Given the description of an element on the screen output the (x, y) to click on. 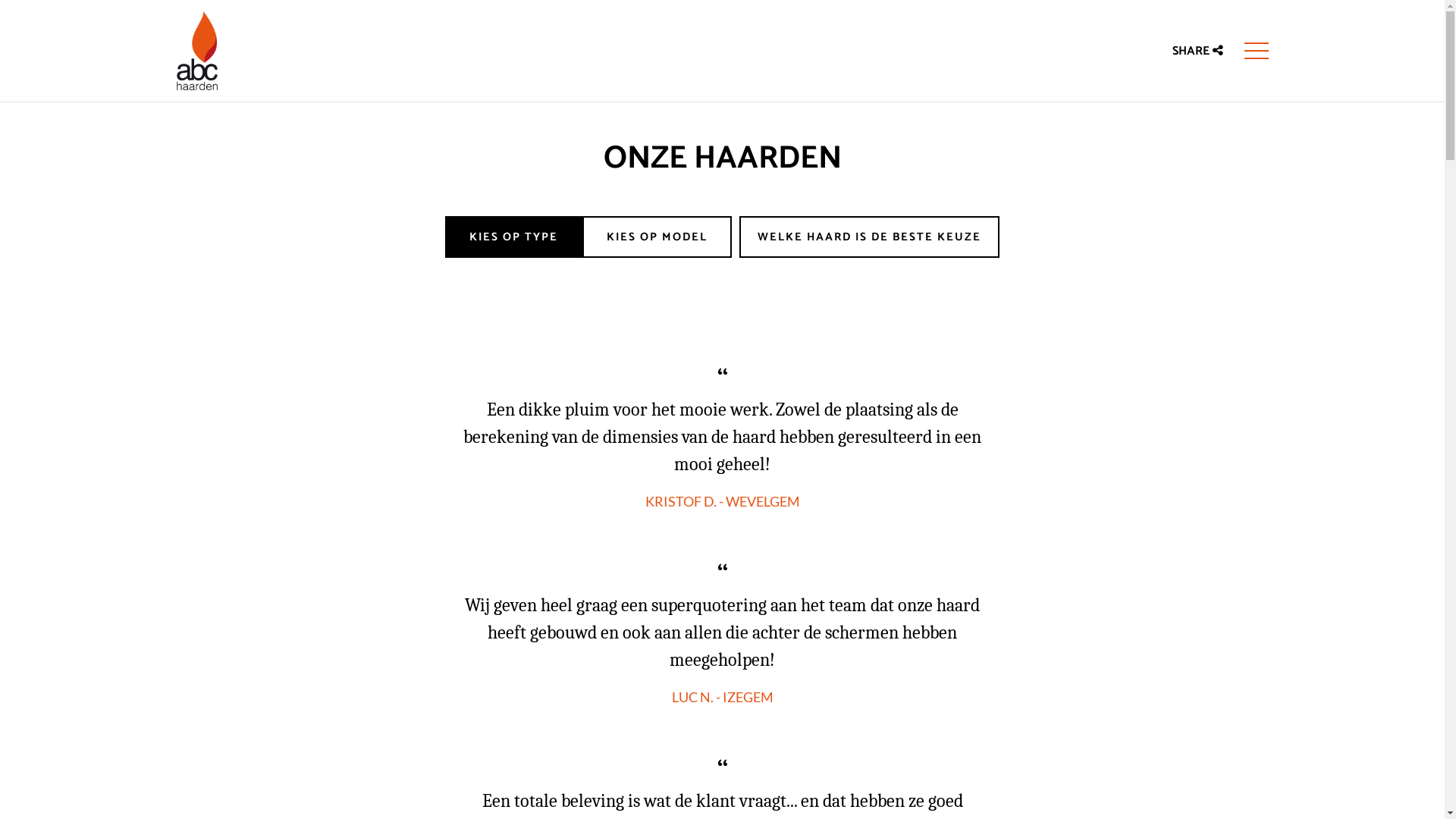
KIES OP TYPE Element type: text (513, 236)
WELKE HAARD IS DE BESTE KEUZE Element type: text (869, 236)
KIES OP MODEL Element type: text (656, 236)
